Given the description of an element on the screen output the (x, y) to click on. 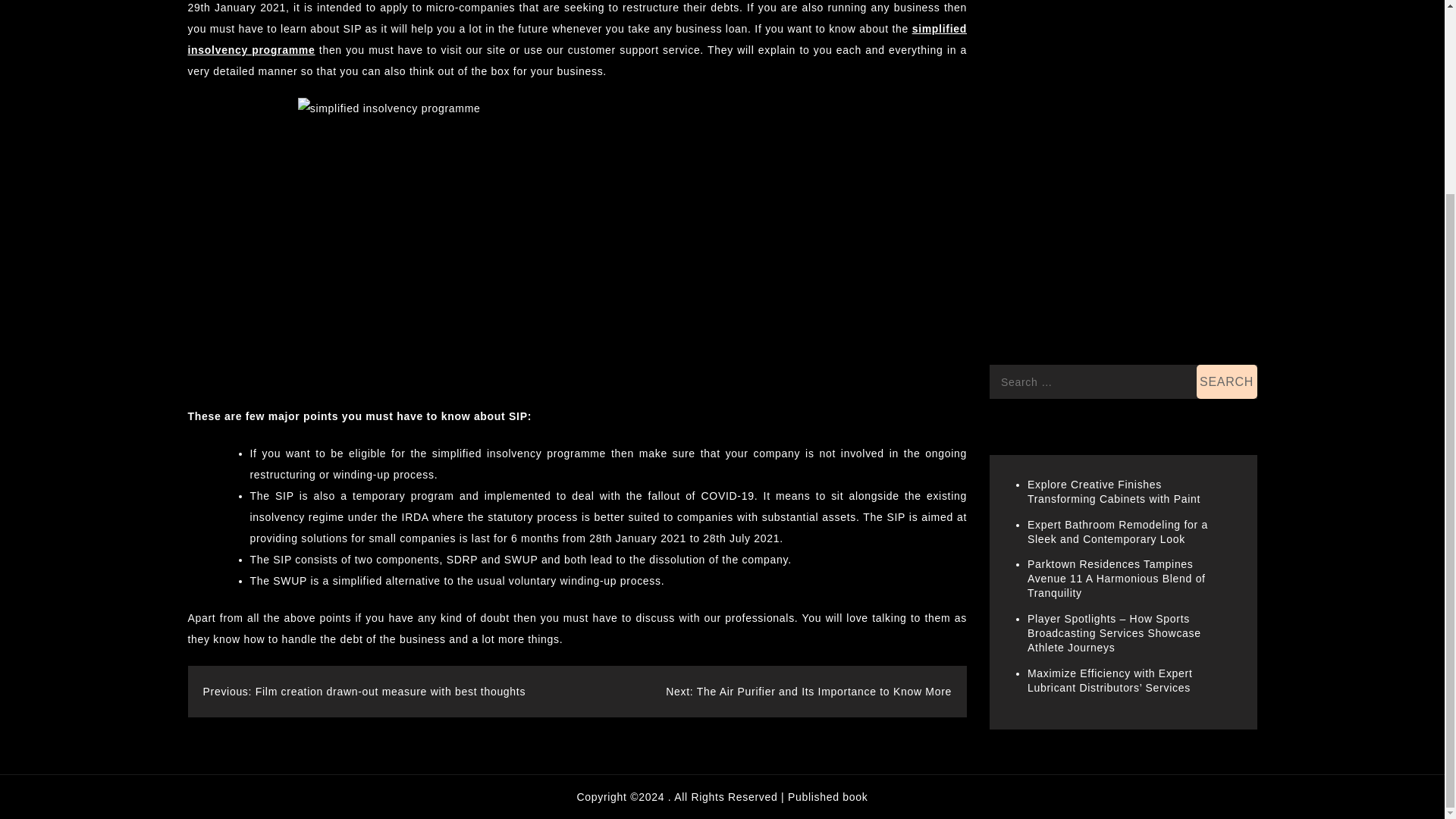
simplified insolvency programme (577, 39)
Next: The Air Purifier and Its Importance to Know More (808, 691)
Previous: Film creation drawn-out measure with best thoughts (364, 691)
Explore Creative Finishes Transforming Cabinets with Paint (1113, 428)
Search (1226, 318)
Search (1226, 318)
Expert Bathroom Remodeling for a Sleek and Contemporary Look (1117, 468)
Search (1226, 318)
